Given the description of an element on the screen output the (x, y) to click on. 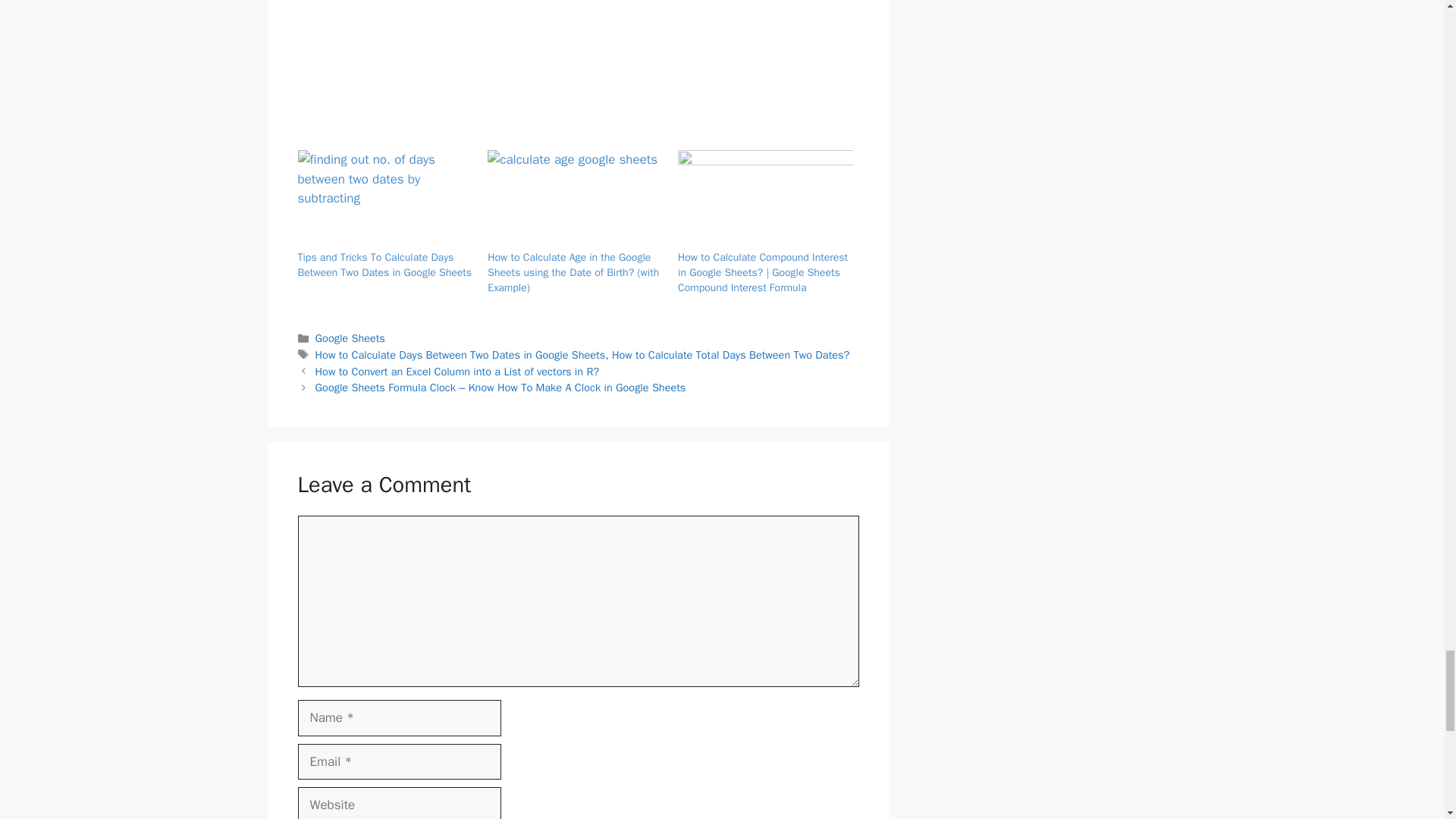
How to Calculate Total Days Between Two Dates? (729, 354)
How to Convert an Excel Column into a List of vectors in R? (457, 371)
How to Calculate Days Between Two Dates in Google Sheets (460, 354)
Google Sheets (350, 337)
